Given the description of an element on the screen output the (x, y) to click on. 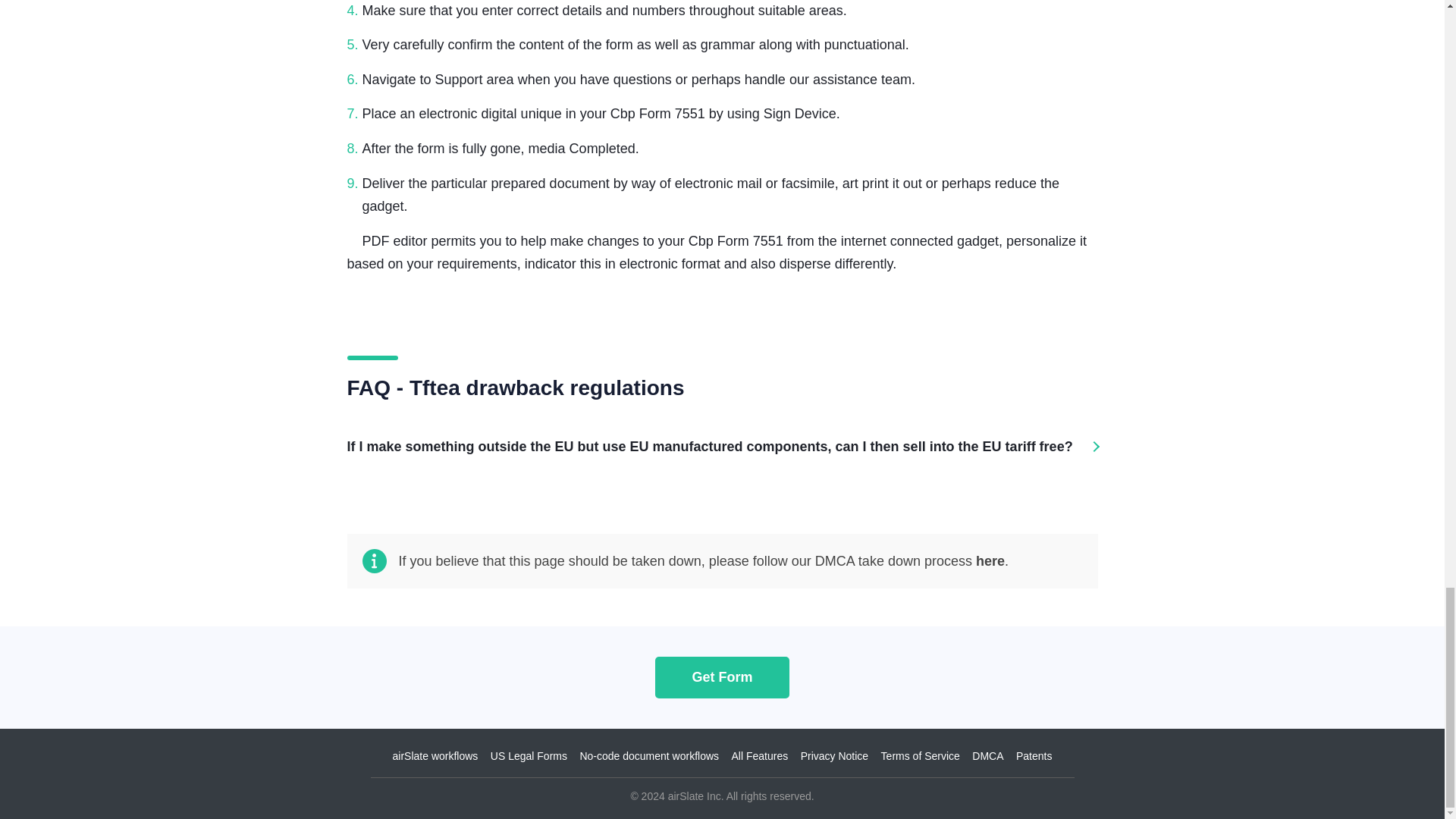
Get Form (722, 676)
airSlate workflows (436, 756)
No-code document workflows (649, 756)
DMCA (987, 756)
Privacy Notice (833, 756)
All Features (760, 756)
Patents (1033, 756)
here (989, 560)
Terms of Service (919, 756)
US Legal Forms (528, 756)
